Given the description of an element on the screen output the (x, y) to click on. 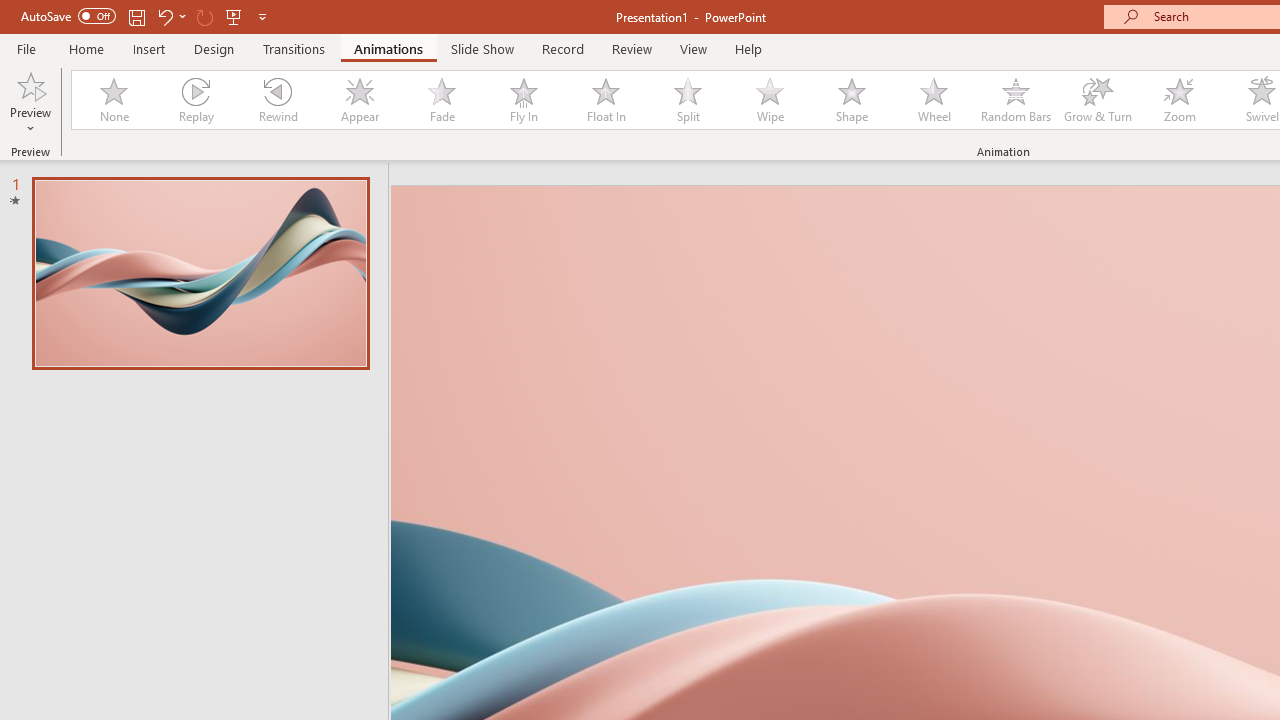
Rewind (277, 100)
Appear (359, 100)
Float In (605, 100)
Replay (195, 100)
